Given the description of an element on the screen output the (x, y) to click on. 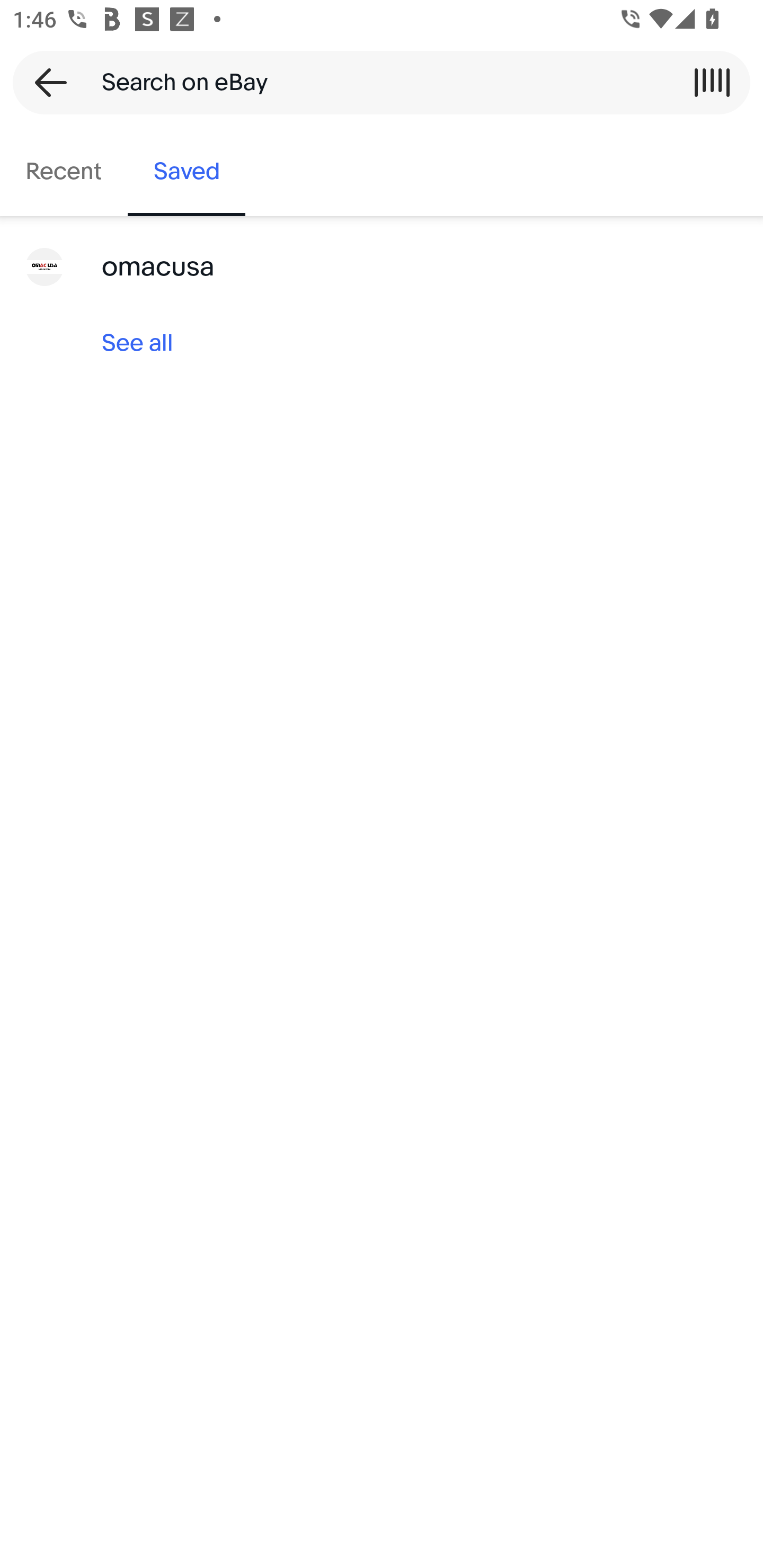
Back (44, 82)
Scan a barcode (711, 82)
Search on eBay (375, 82)
Recent, tab 1 of 2 Recent (63, 171)
User Search omacusa: omacusa (381, 266)
See all See all members (381, 343)
